Given the description of an element on the screen output the (x, y) to click on. 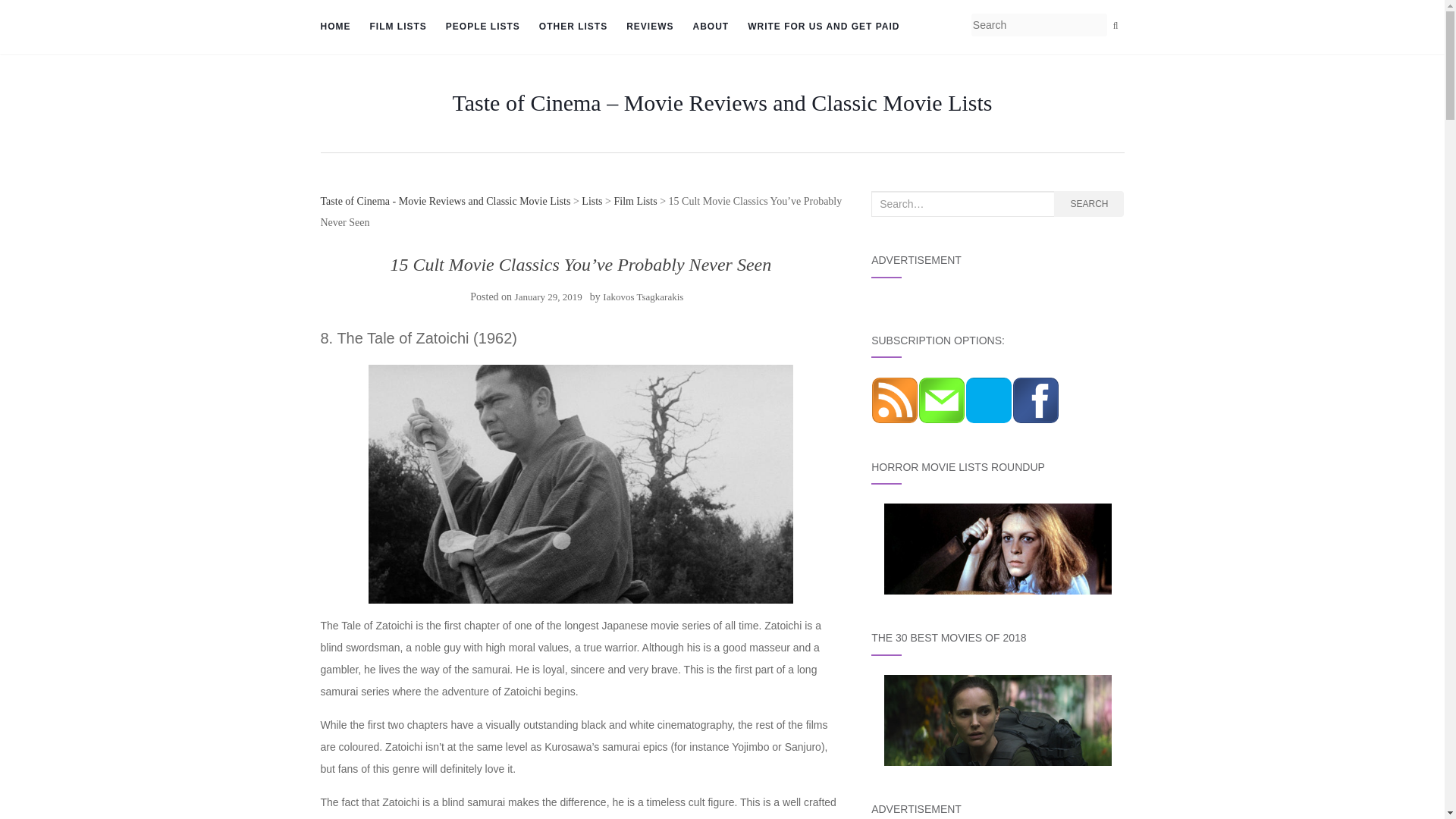
Other Lists (572, 27)
WRITE FOR US AND GET PAID (823, 27)
Go to the Film Lists category archives. (634, 201)
Go to the Lists category archives. (591, 201)
Write For Us and Get Paid (823, 27)
Film Lists (397, 27)
Taste of Cinema - Movie Reviews and Classic Movie Lists (445, 201)
People Lists (482, 27)
OTHER LISTS (572, 27)
Lists (591, 201)
